Given the description of an element on the screen output the (x, y) to click on. 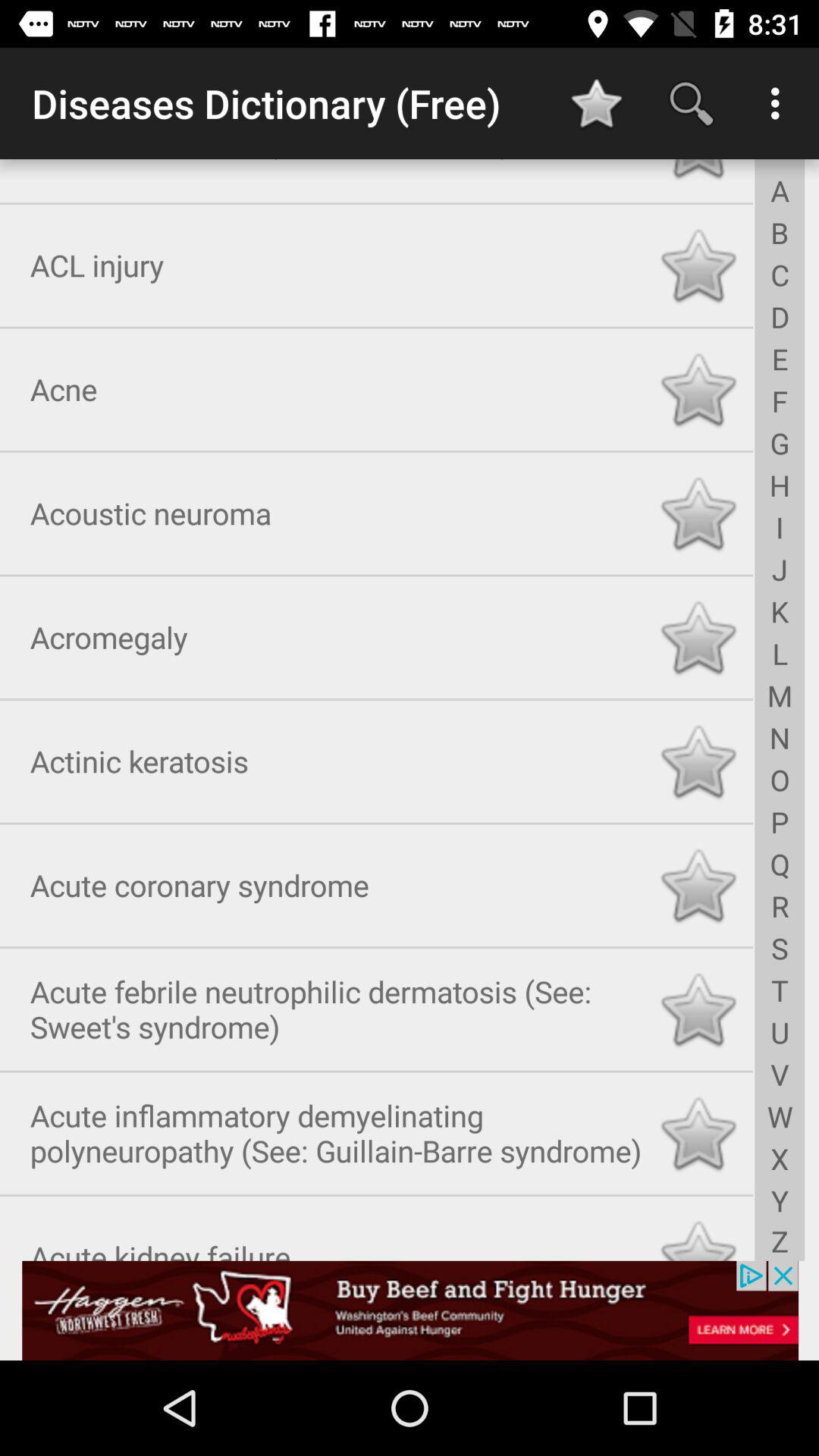
bookmark (697, 882)
